Given the description of an element on the screen output the (x, y) to click on. 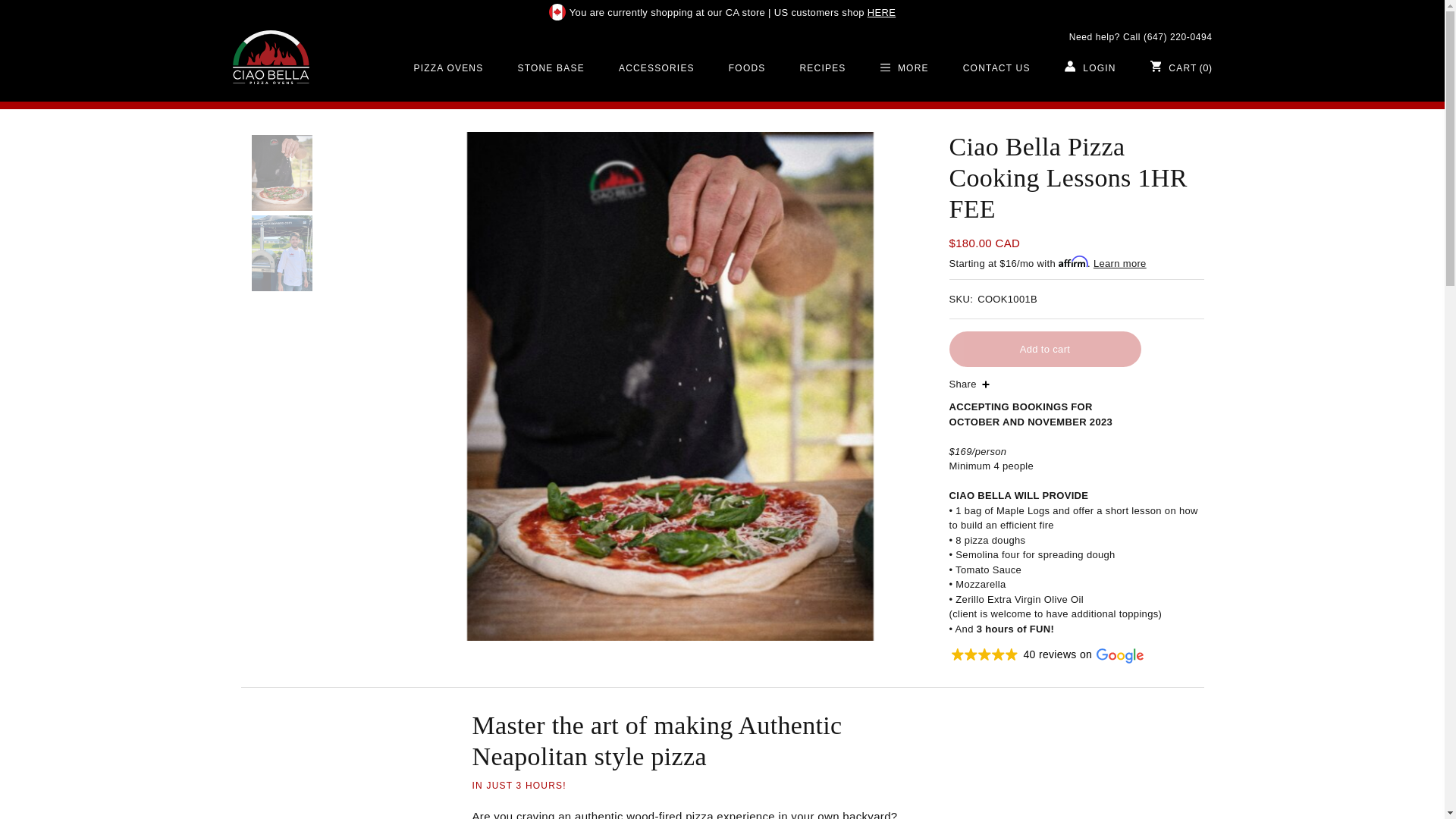
US customers shop HERE (834, 12)
PIZZA OVENS (449, 79)
FOODS (746, 79)
STONE BASE (550, 79)
ACCESSORIES (656, 79)
